Given the description of an element on the screen output the (x, y) to click on. 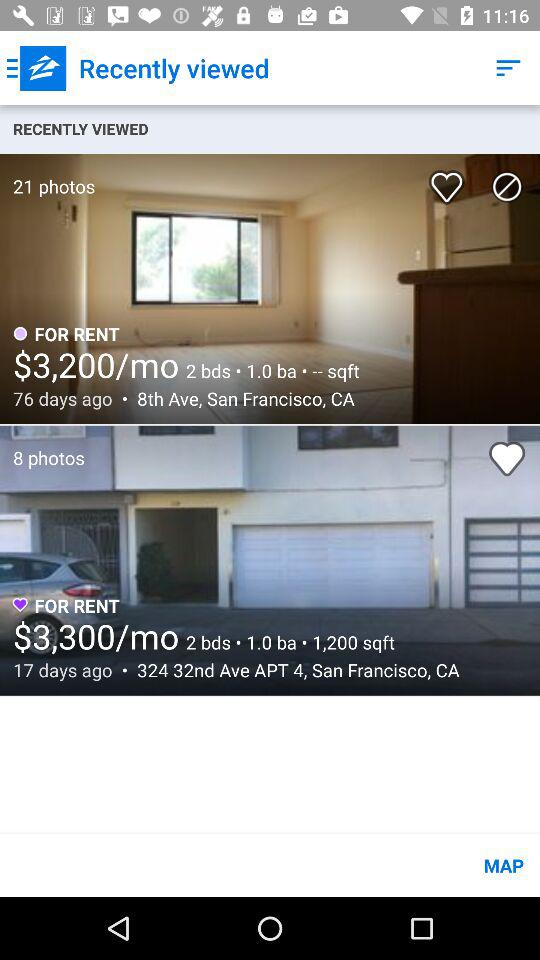
select icon below the $3,300/mo icon (292, 669)
